Given the description of an element on the screen output the (x, y) to click on. 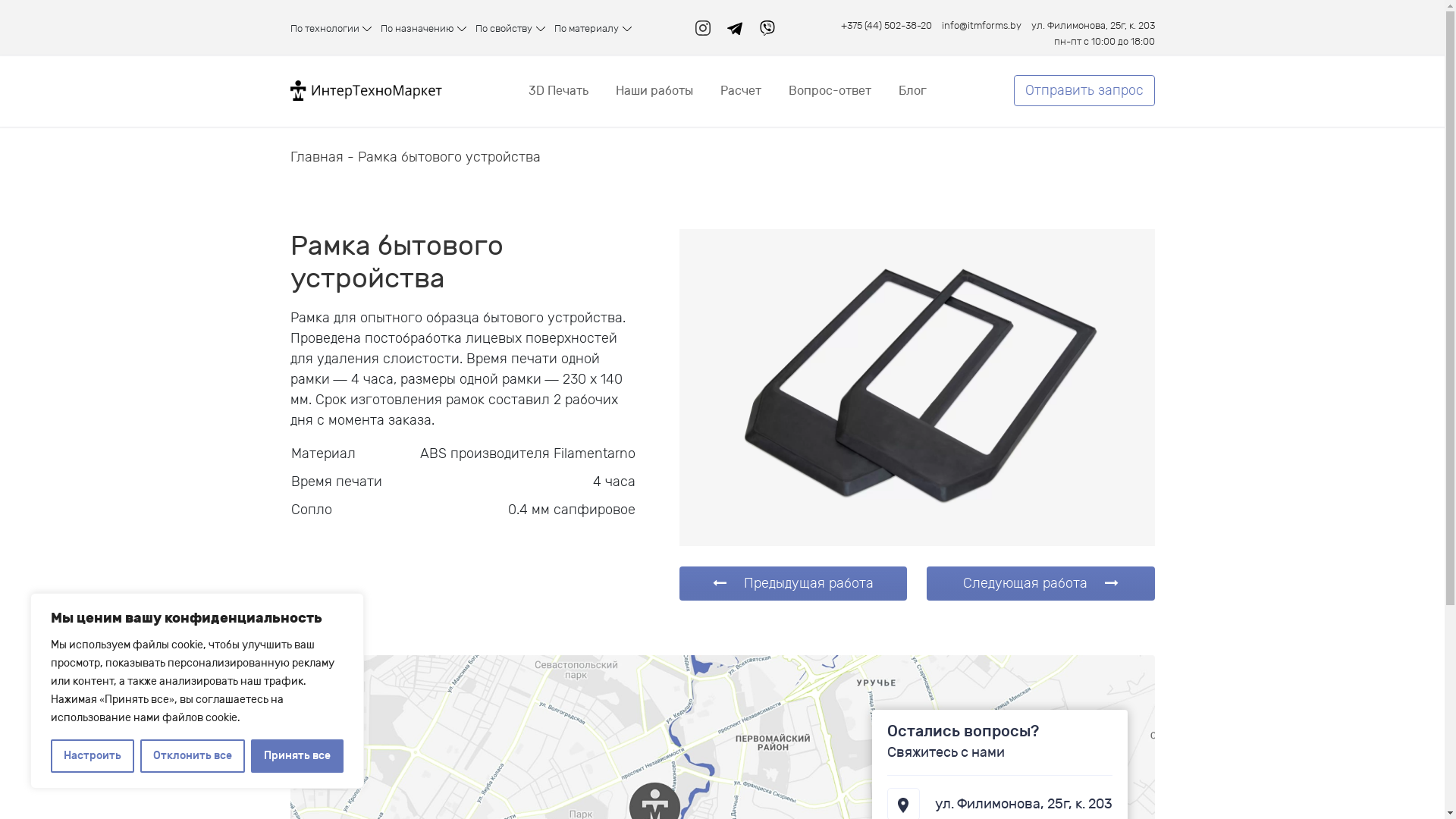
+375 (44) 502-38-20 Element type: text (885, 27)
info@itmforms.by Element type: text (981, 27)
